Given the description of an element on the screen output the (x, y) to click on. 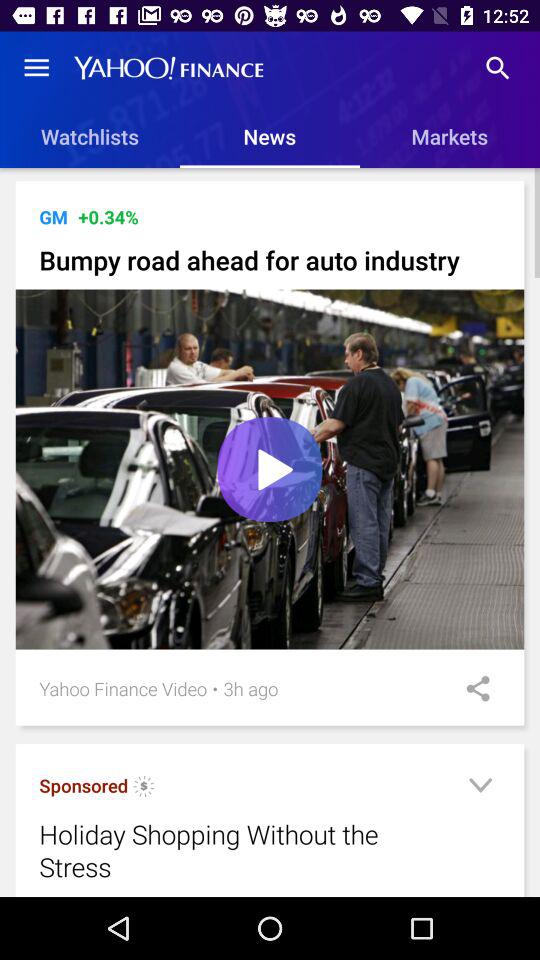
minimize advertisement (480, 788)
